Given the description of an element on the screen output the (x, y) to click on. 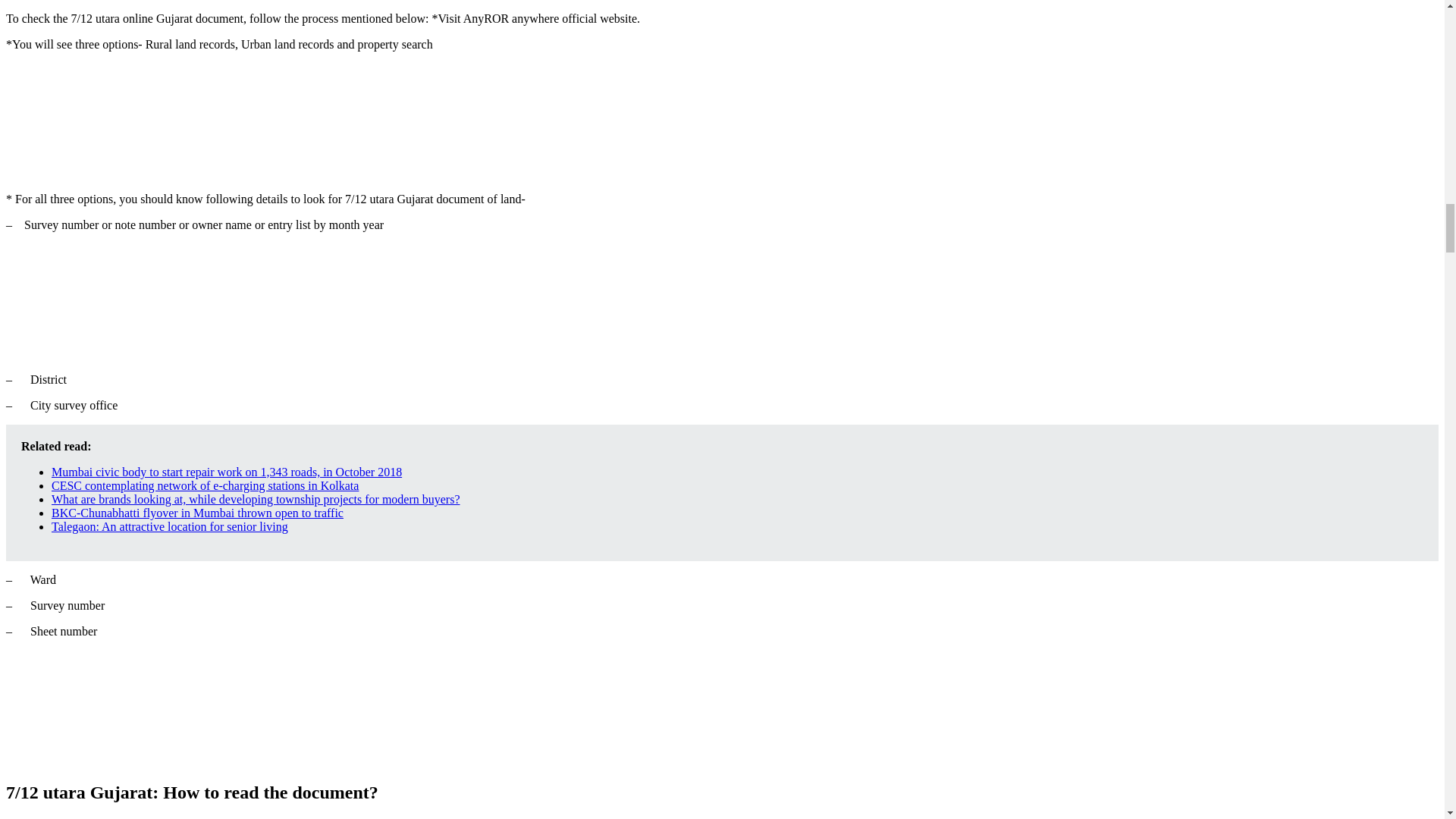
how-e-dhara-has-changed-gujarat-land-records-system-image-02 (118, 300)
CESC contemplating network of e-charging stations in Kolkata (204, 485)
how-e-dhara-has-changed-gujarat-land-records-system-image-01 (118, 120)
